Given the description of an element on the screen output the (x, y) to click on. 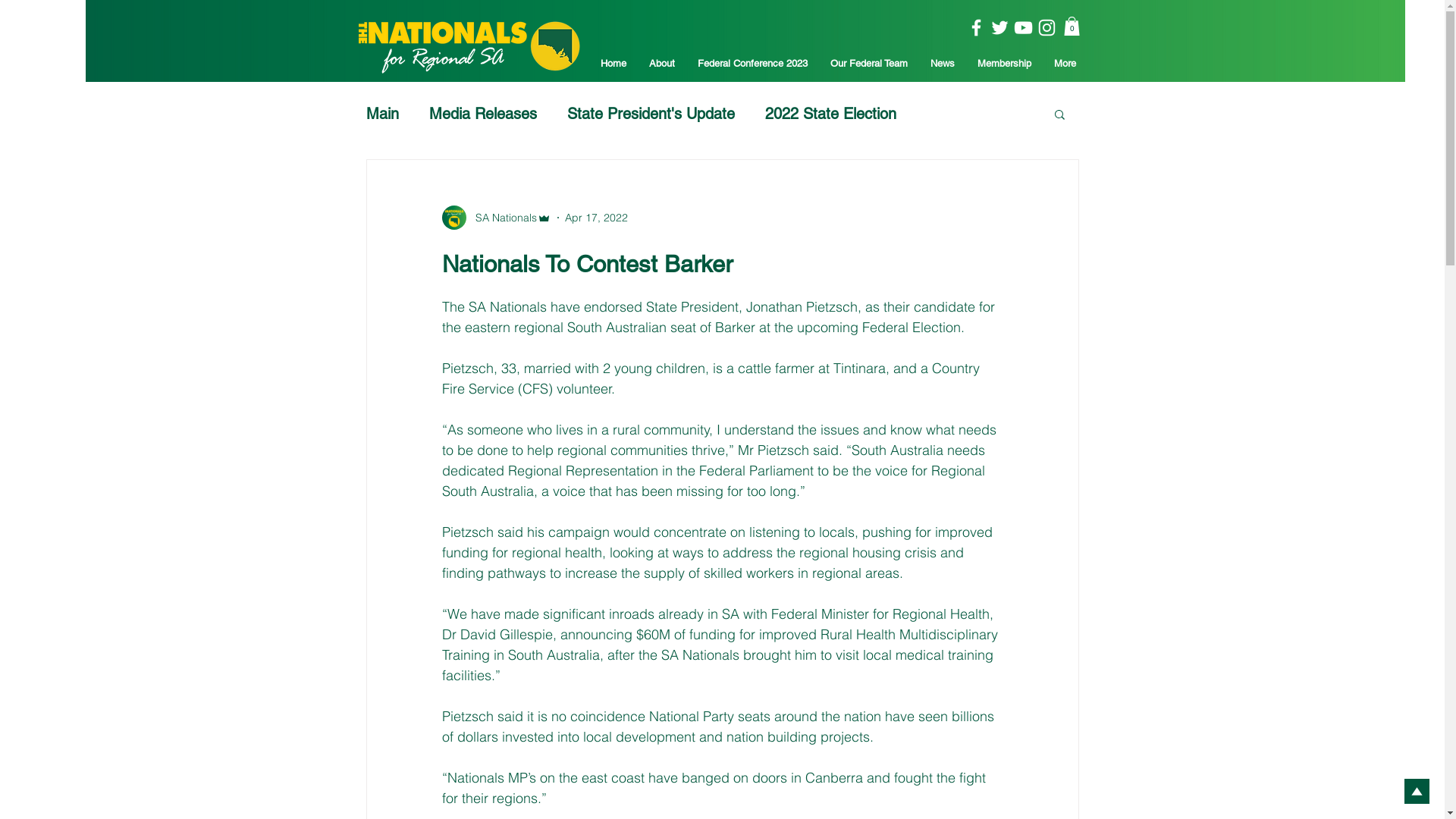
Main Element type: text (381, 113)
Membership Element type: text (1004, 63)
Home Element type: text (612, 63)
News Element type: text (942, 63)
Federal Conference 2023 Element type: text (751, 63)
2022 State Election Element type: text (829, 113)
State President's Update Element type: text (650, 113)
SA Nationals Element type: text (495, 217)
Media Releases Element type: text (482, 113)
Our Federal Team Element type: text (869, 63)
About Element type: text (661, 63)
0 Element type: text (1071, 25)
Nationals (SA) stacked (Colour)(website)(3).png Element type: hover (468, 46)
Nationals Gradiant (4).png Element type: hover (744, 40)
